Given the description of an element on the screen output the (x, y) to click on. 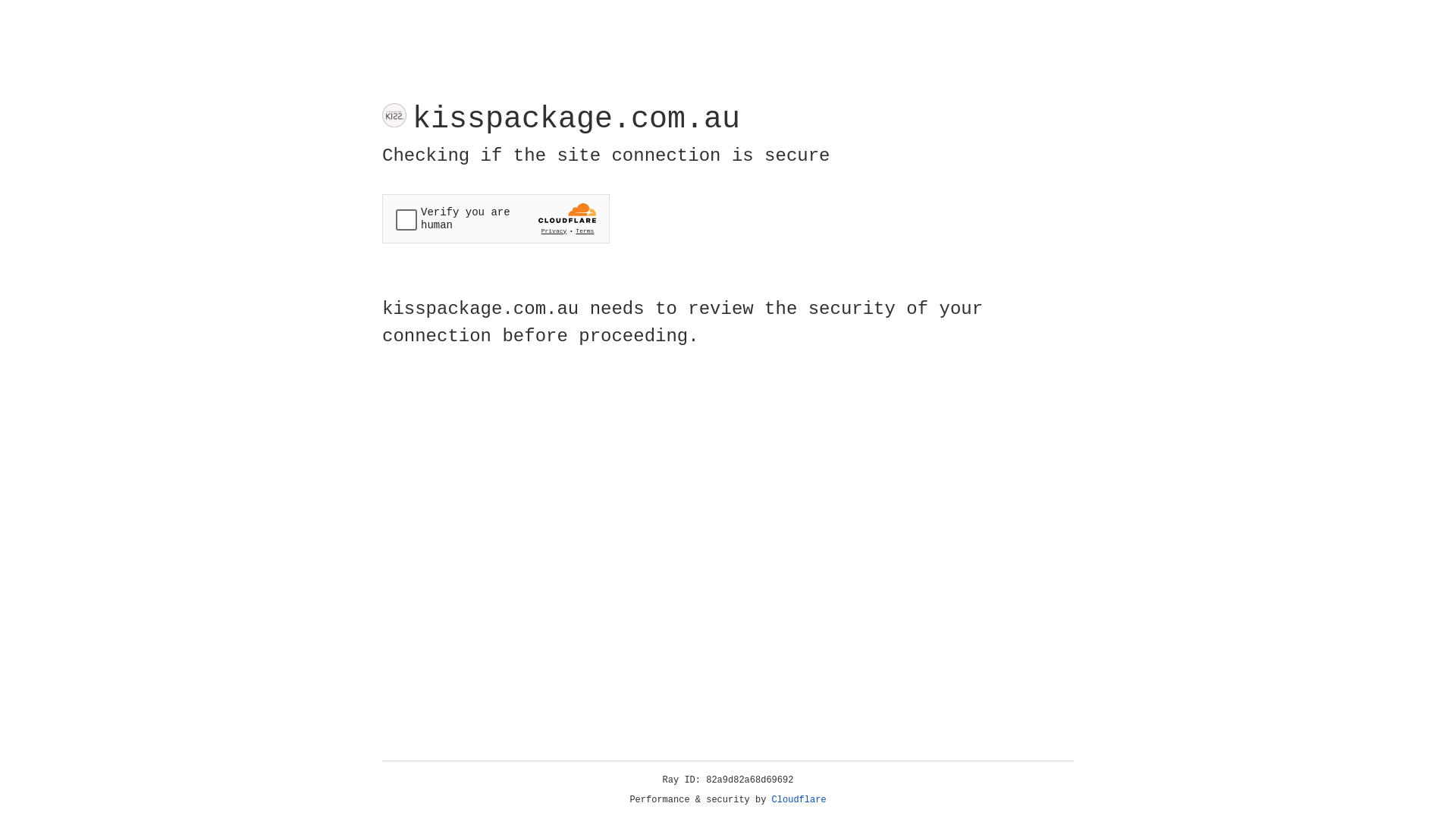
Cloudflare Element type: text (798, 799)
Widget containing a Cloudflare security challenge Element type: hover (495, 218)
